Given the description of an element on the screen output the (x, y) to click on. 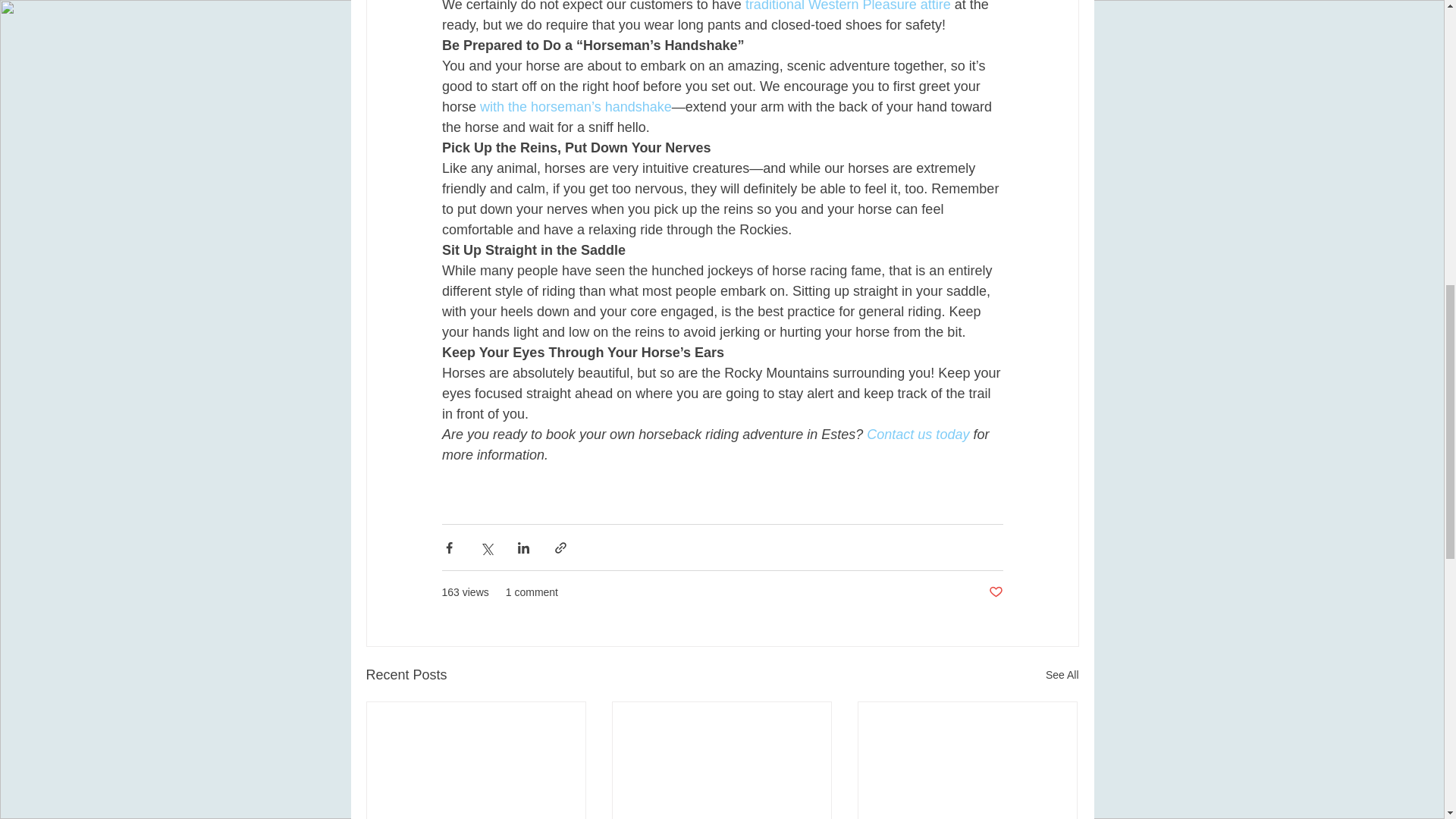
Post not marked as liked (995, 592)
Contact us today (917, 434)
traditional Western Pleasure attire (847, 6)
See All (1061, 675)
